Given the description of an element on the screen output the (x, y) to click on. 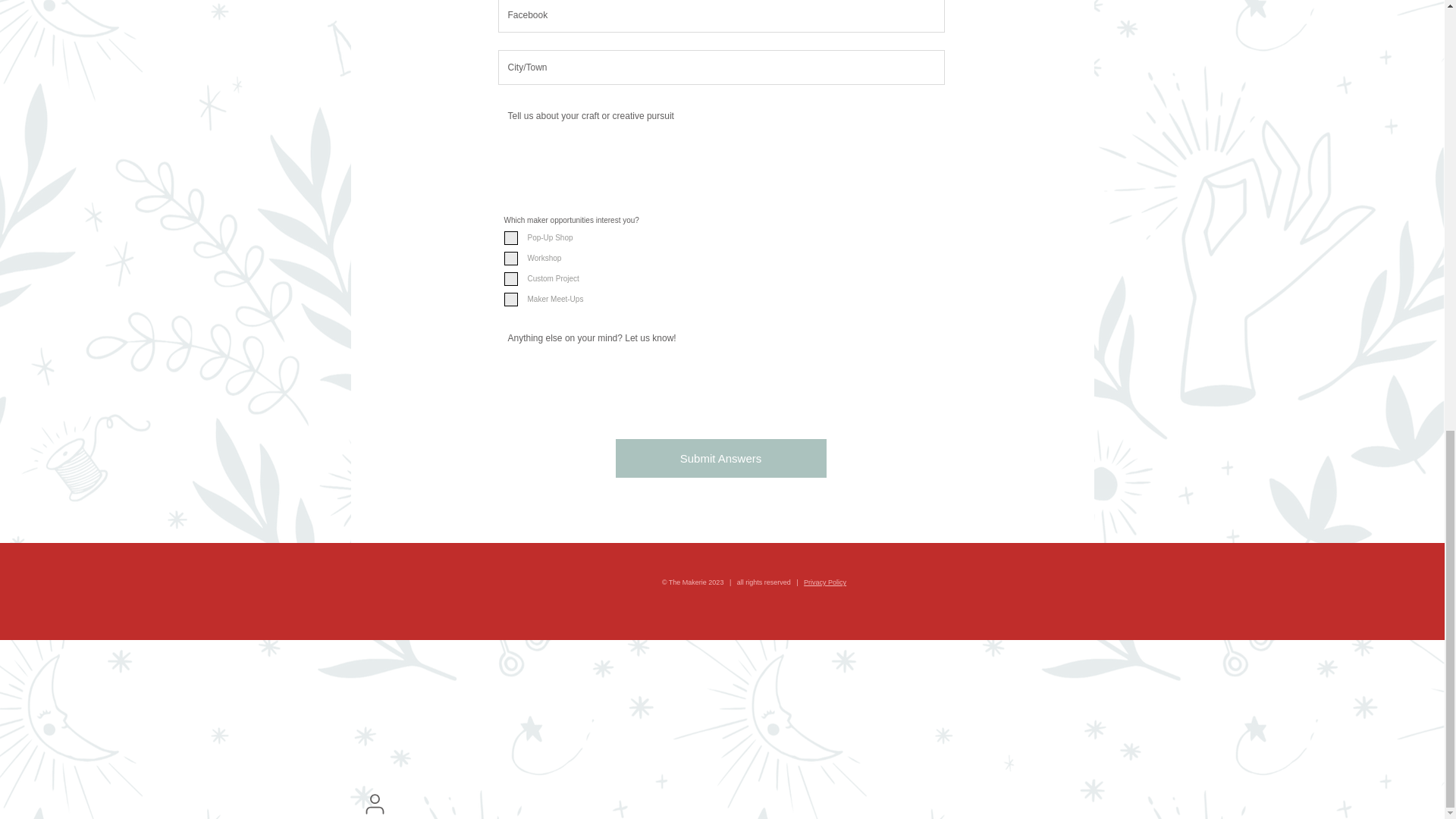
Privacy Policy (824, 582)
Submit Answers (721, 457)
